Given the description of an element on the screen output the (x, y) to click on. 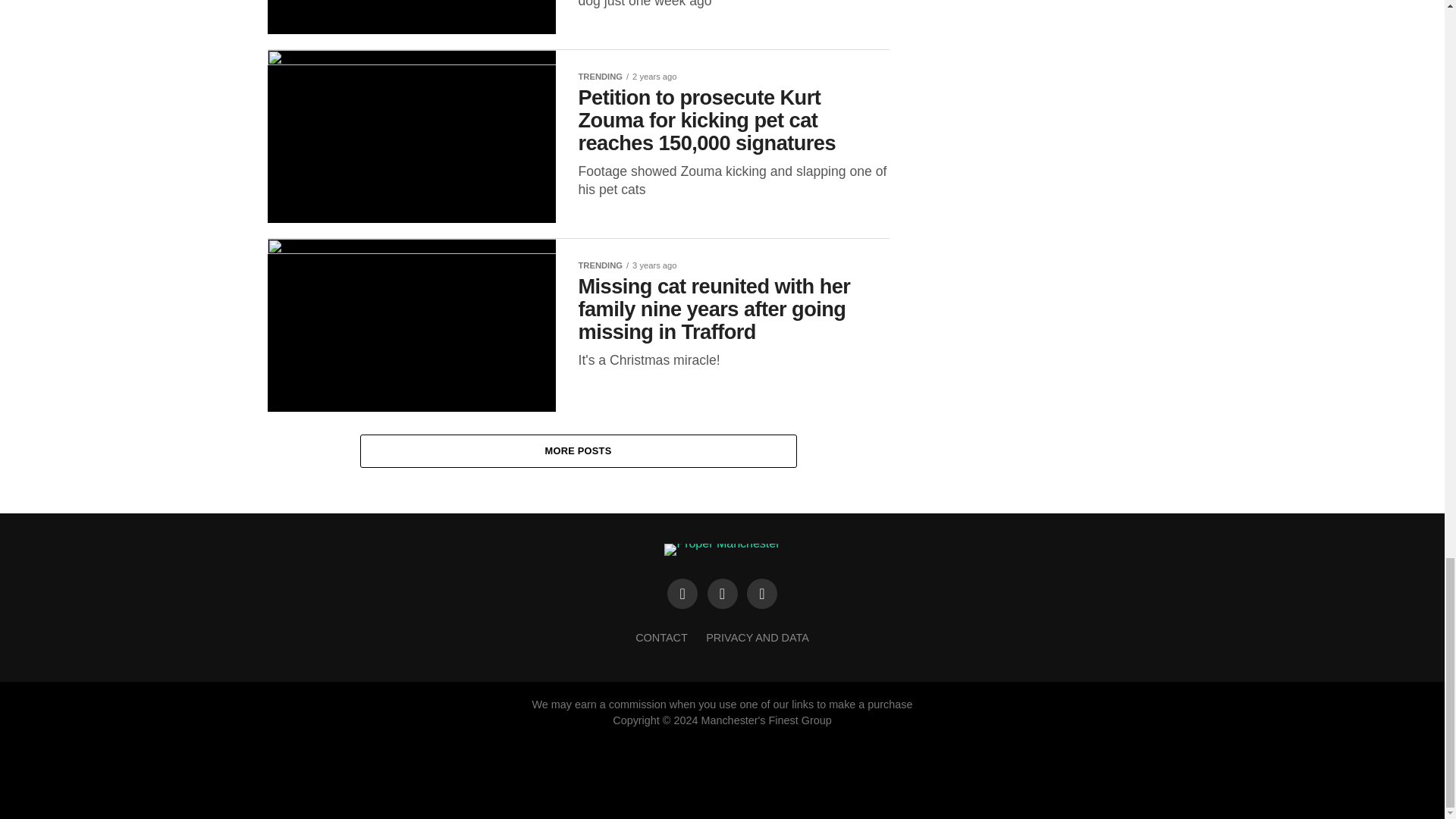
MORE POSTS (577, 451)
CONTACT (660, 637)
